Given the description of an element on the screen output the (x, y) to click on. 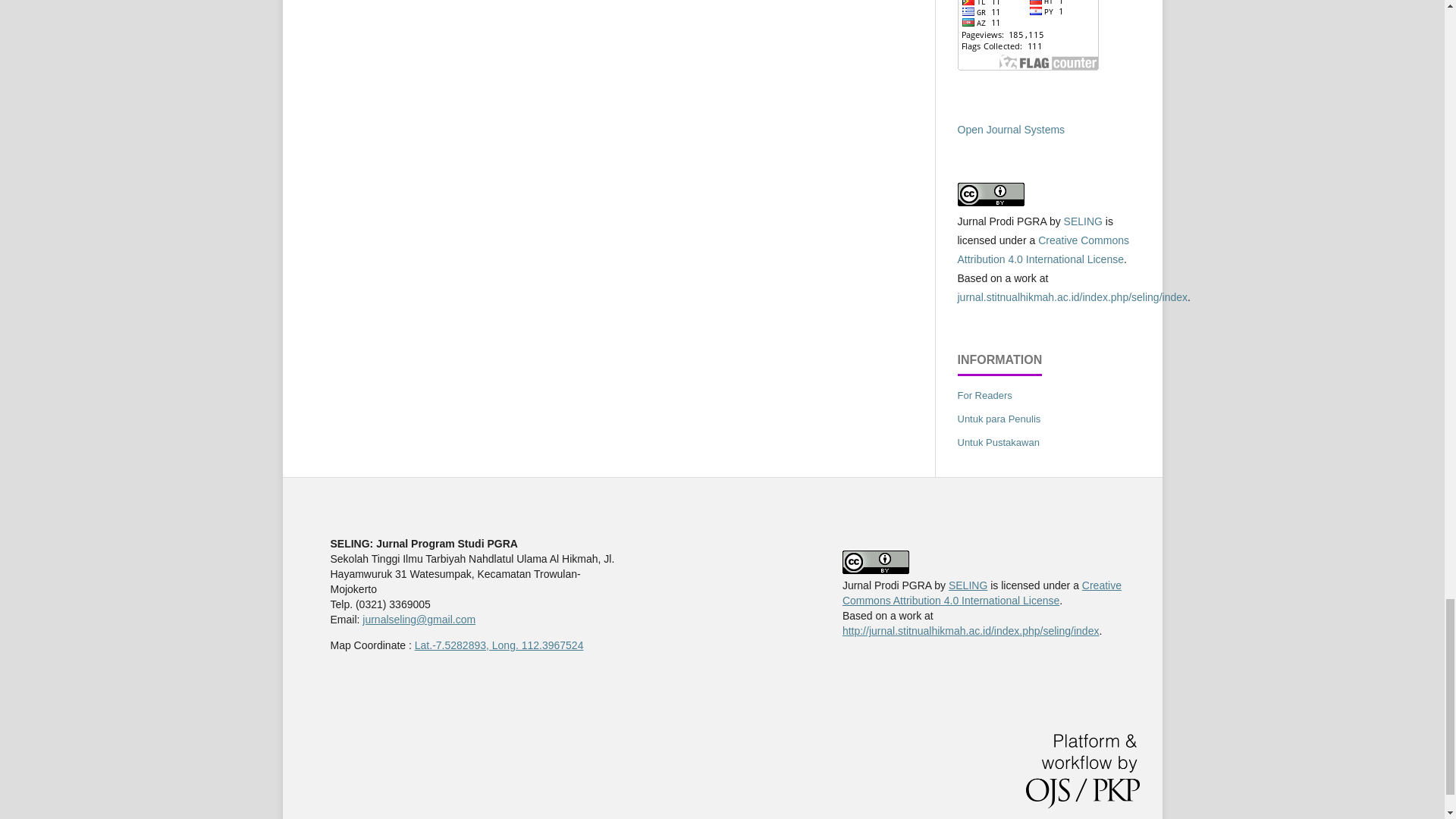
CC-BY (1083, 221)
Map Coordinate (498, 645)
